Given the description of an element on the screen output the (x, y) to click on. 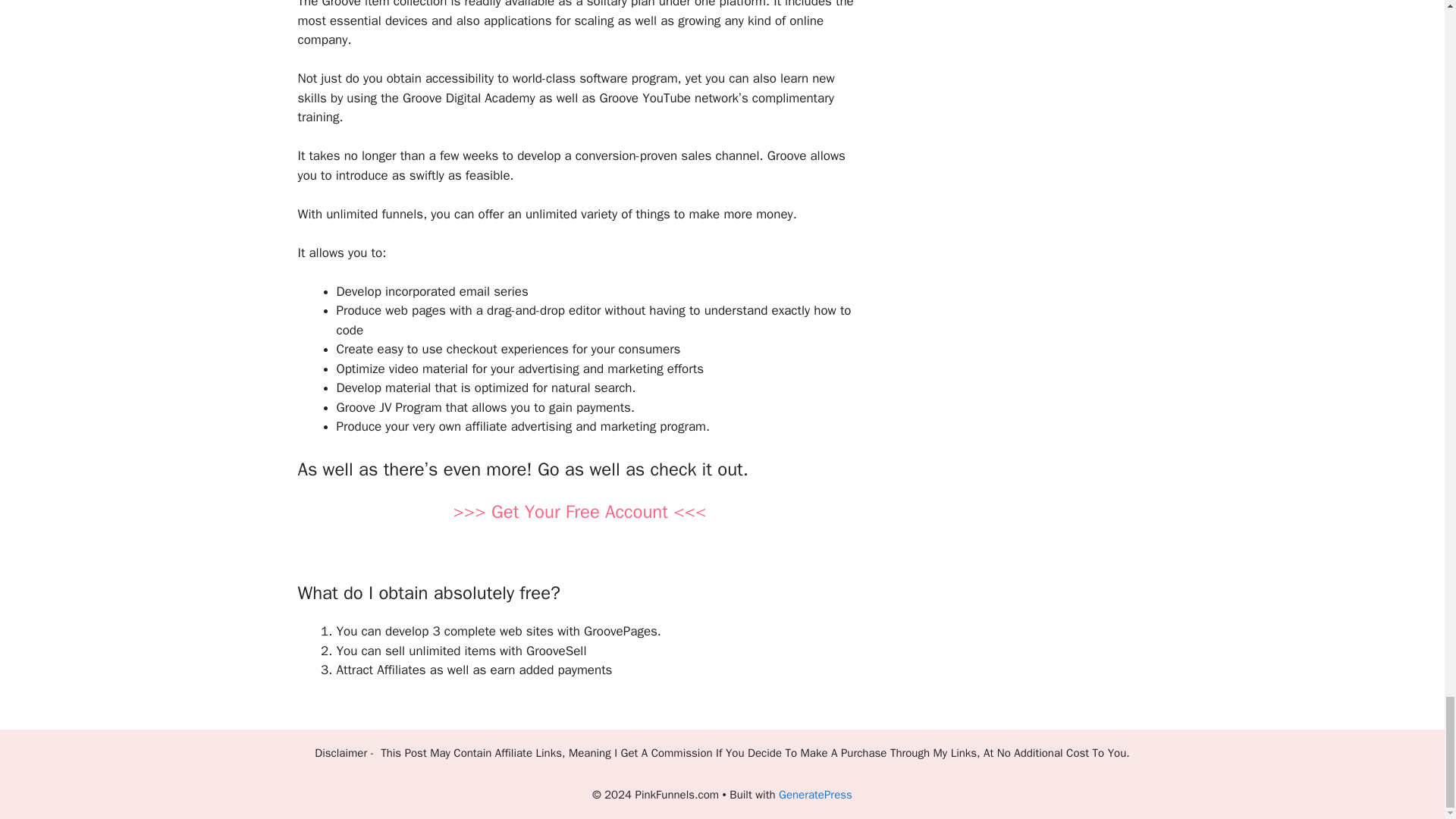
GeneratePress (814, 794)
